Given the description of an element on the screen output the (x, y) to click on. 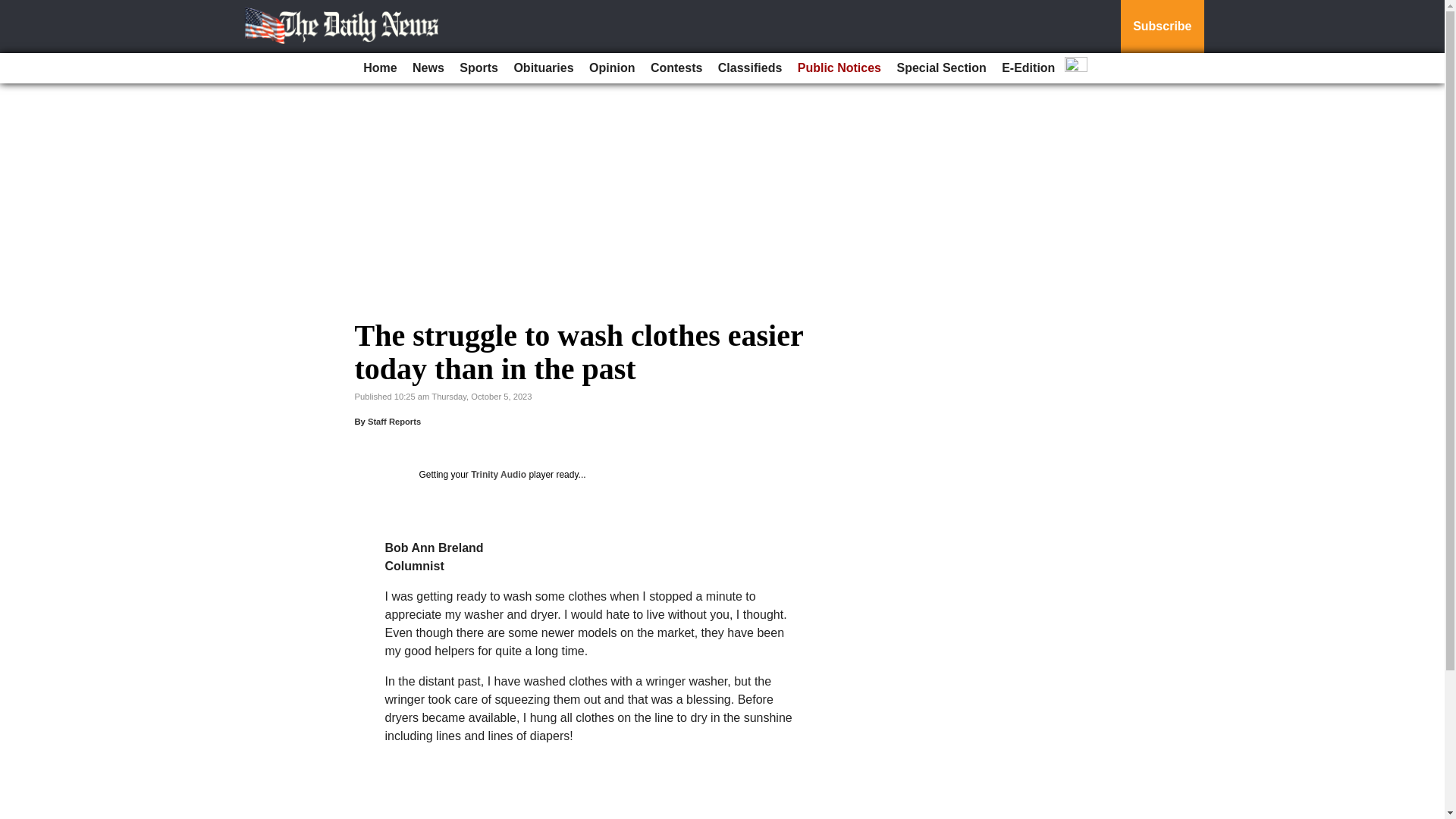
Sports (477, 68)
Subscribe (1162, 26)
Home (379, 68)
Contests (676, 68)
Obituaries (542, 68)
Go (13, 9)
E-Edition (1028, 68)
Opinion (611, 68)
Classifieds (749, 68)
Staff Reports (394, 420)
